Given the description of an element on the screen output the (x, y) to click on. 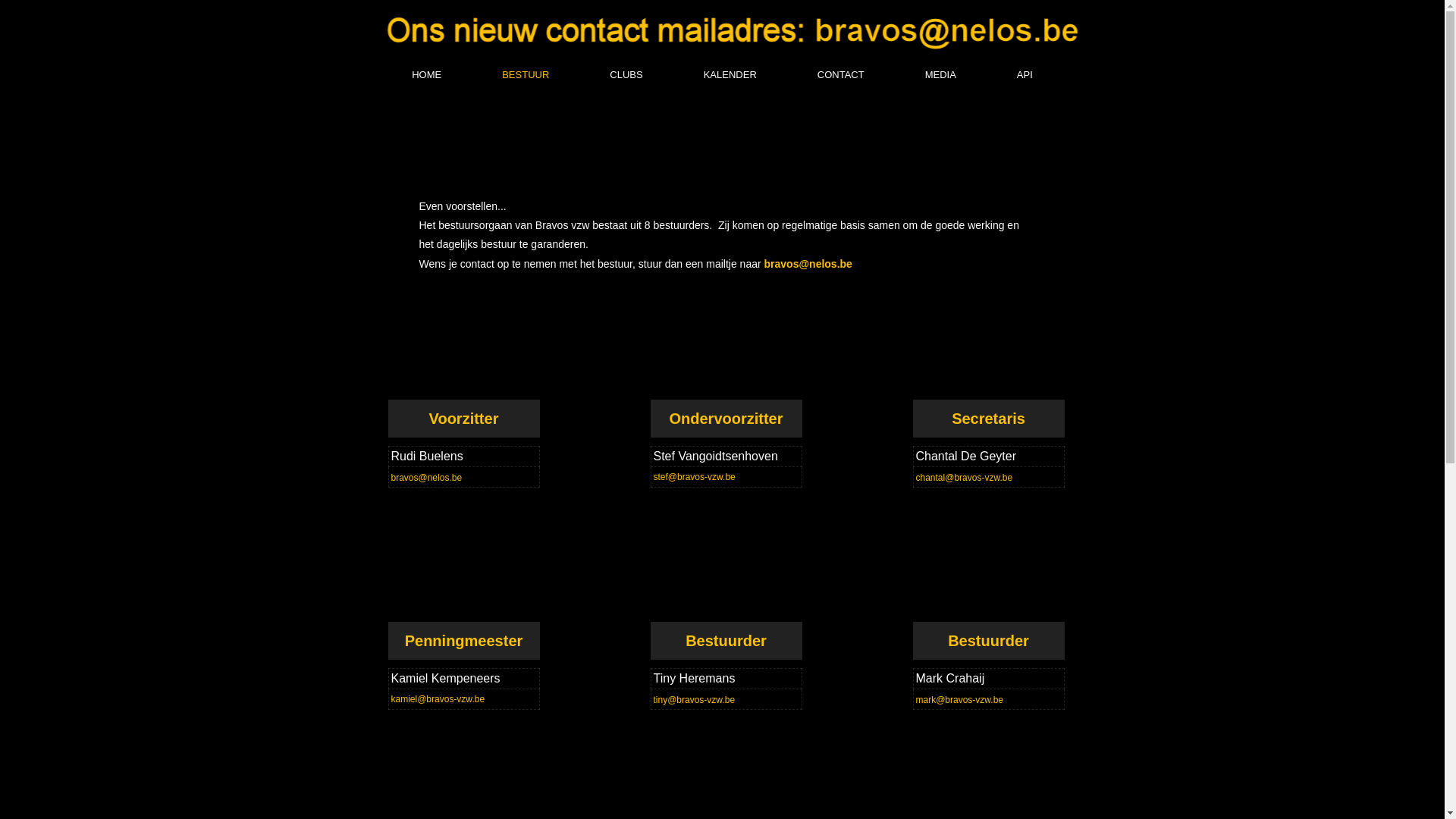
bravos@nelos.be Element type: text (808, 263)
stef@bravos-vzw.be Element type: text (694, 476)
API Element type: text (1024, 75)
tiny@bravos-vzw.be Element type: text (694, 699)
hoofdcontactmailadres Element type: hover (749, 29)
mark@bravos-vzw.be Element type: text (960, 699)
chantal@bravos-vzw.be Element type: text (964, 477)
bravos@nelos.be Element type: text (426, 477)
HOME Element type: text (426, 75)
kamiel@bravos-vzw.be Element type: text (438, 698)
CLUBS Element type: text (625, 75)
hoofdcontactmailadres Element type: hover (743, 29)
BESTUUR Element type: text (525, 75)
CONTACT Element type: text (840, 75)
KALENDER Element type: text (730, 75)
MEDIA Element type: text (940, 75)
